Given the description of an element on the screen output the (x, y) to click on. 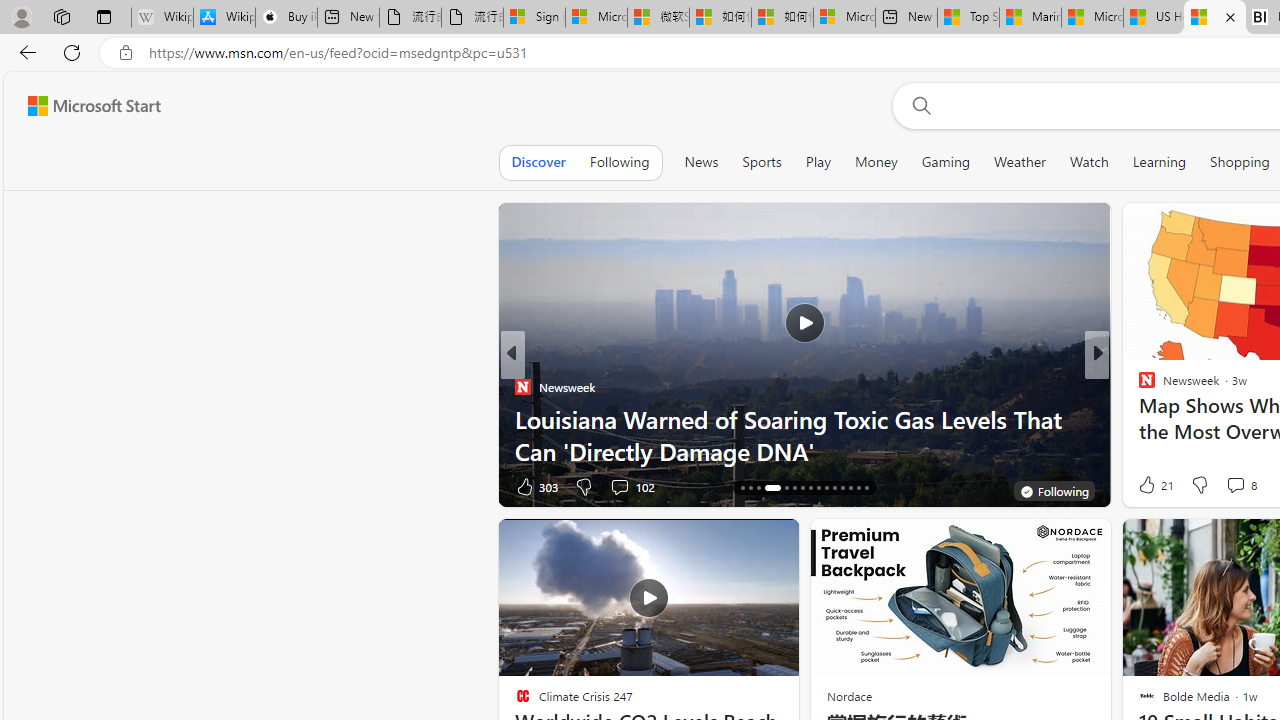
View comments 18 Comment (11, 485)
AutomationID: tab-30 (865, 487)
Live Science (1138, 418)
611 Like (1151, 486)
10 Like (1149, 486)
16 Like (1149, 486)
AutomationID: tab-20 (786, 487)
View comments 157 Comment (1234, 485)
AutomationID: tab-24 (818, 487)
15 Like (1149, 486)
